Given the description of an element on the screen output the (x, y) to click on. 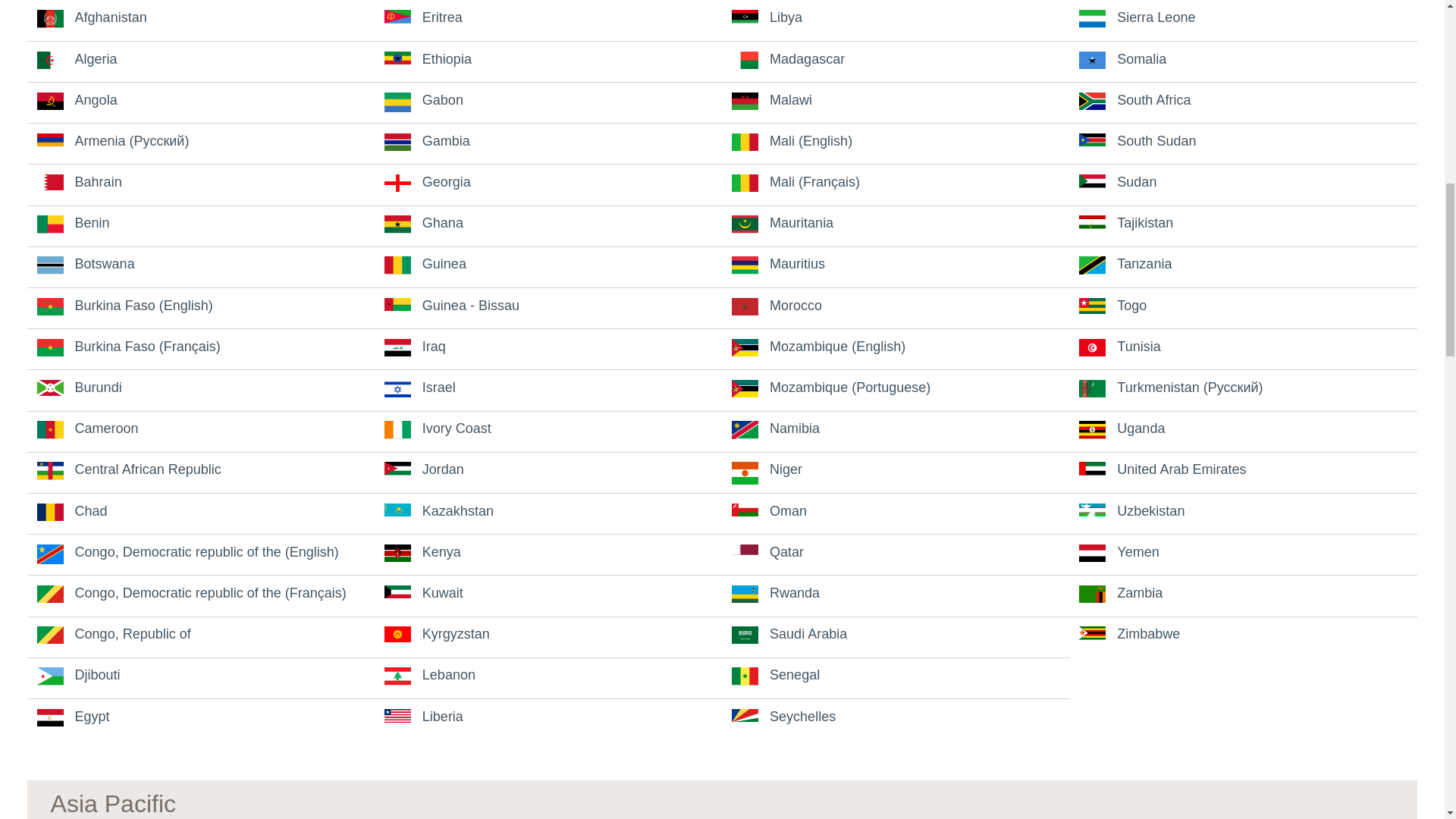
Botswana (86, 263)
Djibouti (78, 674)
Benin (73, 222)
Ethiopia (427, 58)
Eritrea (423, 17)
Bahrain (79, 181)
Egypt (73, 715)
Algeria (77, 58)
Central African Republic (129, 468)
Cameroon (87, 427)
